Given the description of an element on the screen output the (x, y) to click on. 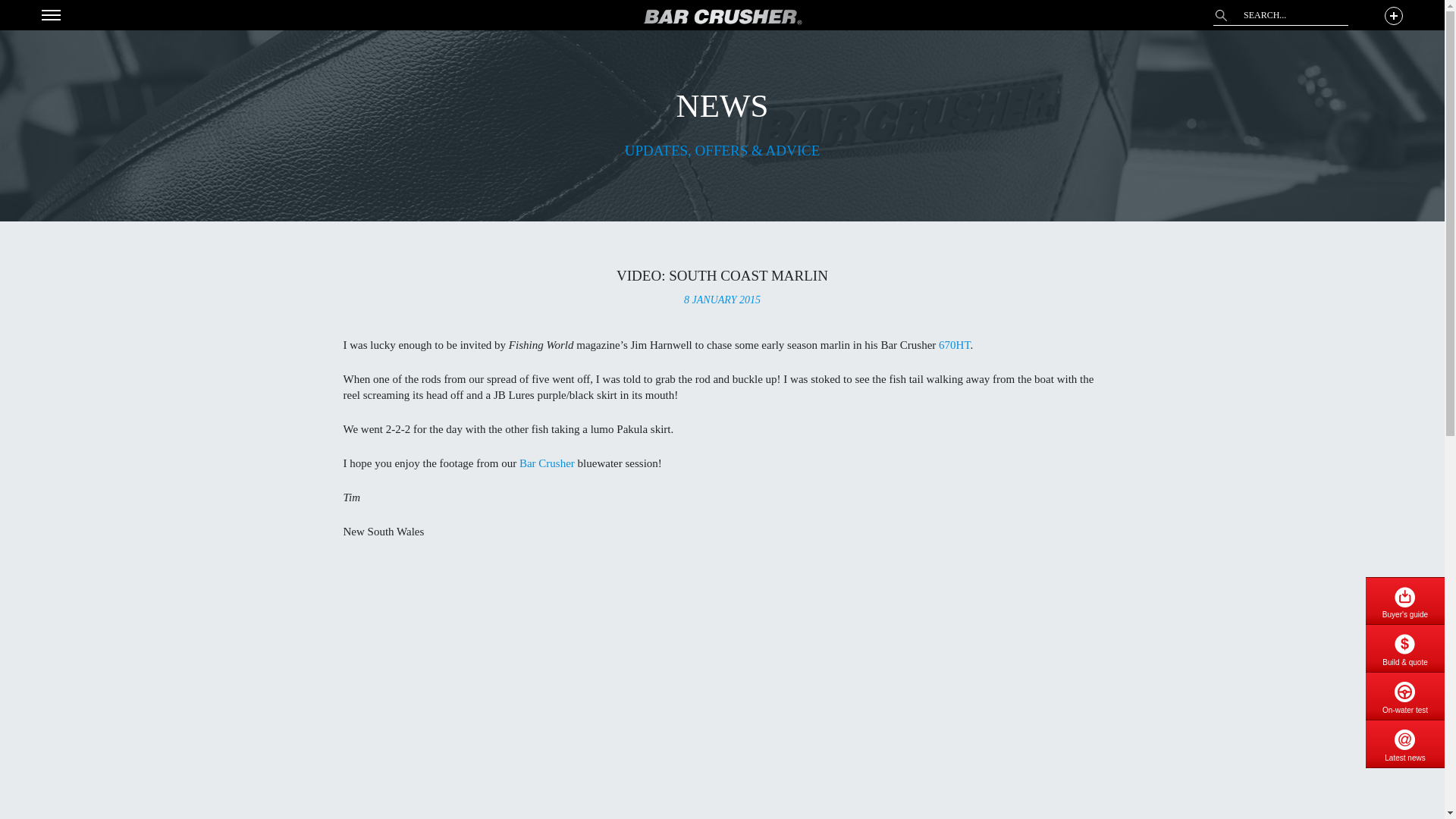
670HT (952, 345)
Bar Crusher (547, 463)
Bar Crusher Logo (722, 17)
